Given the description of an element on the screen output the (x, y) to click on. 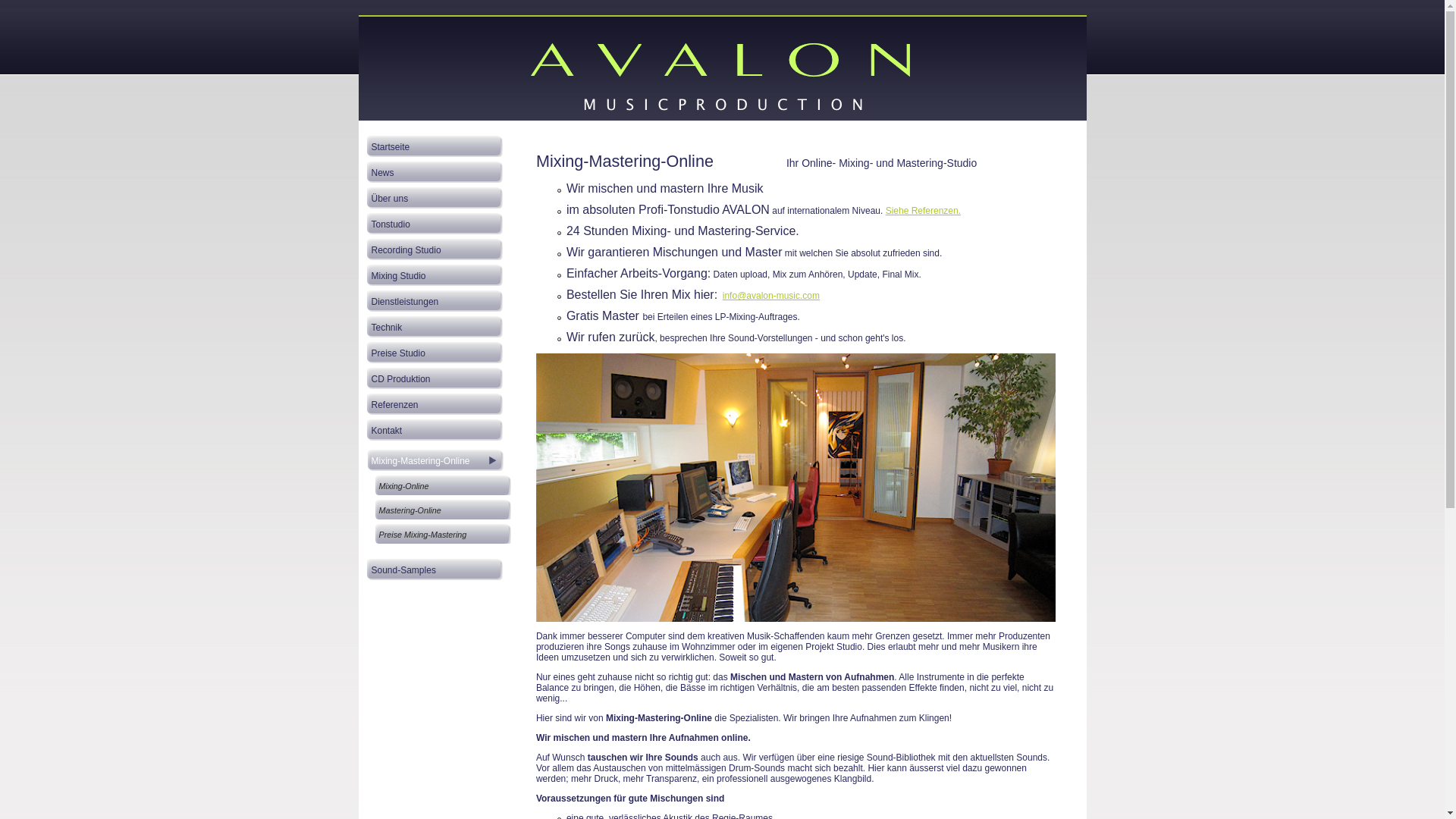
Tonstudio AVALON Regie Element type: hover (795, 487)
Kontakt Element type: text (435, 428)
Mastering-Online Element type: text (442, 507)
Tonstudio Element type: text (435, 222)
CD Produktion Element type: text (435, 376)
Dienstleistungen Element type: text (435, 299)
Mixing-Online Element type: text (442, 483)
Sound-Samples Element type: text (435, 567)
Technik Element type: text (435, 325)
Preise Mixing-Mastering Element type: text (442, 532)
Avalon Music Element type: hover (722, 75)
Mixing-Mastering-Online Element type: text (435, 458)
News Element type: text (435, 170)
info@avalon-music.com Element type: text (770, 295)
Recording Studio Element type: text (435, 247)
Mixing Studio Element type: text (435, 273)
Referenzen Element type: text (435, 402)
Startseite Element type: text (435, 144)
Preise Studio Element type: text (435, 351)
Siehe Referenzen. Element type: text (922, 210)
